Given the description of an element on the screen output the (x, y) to click on. 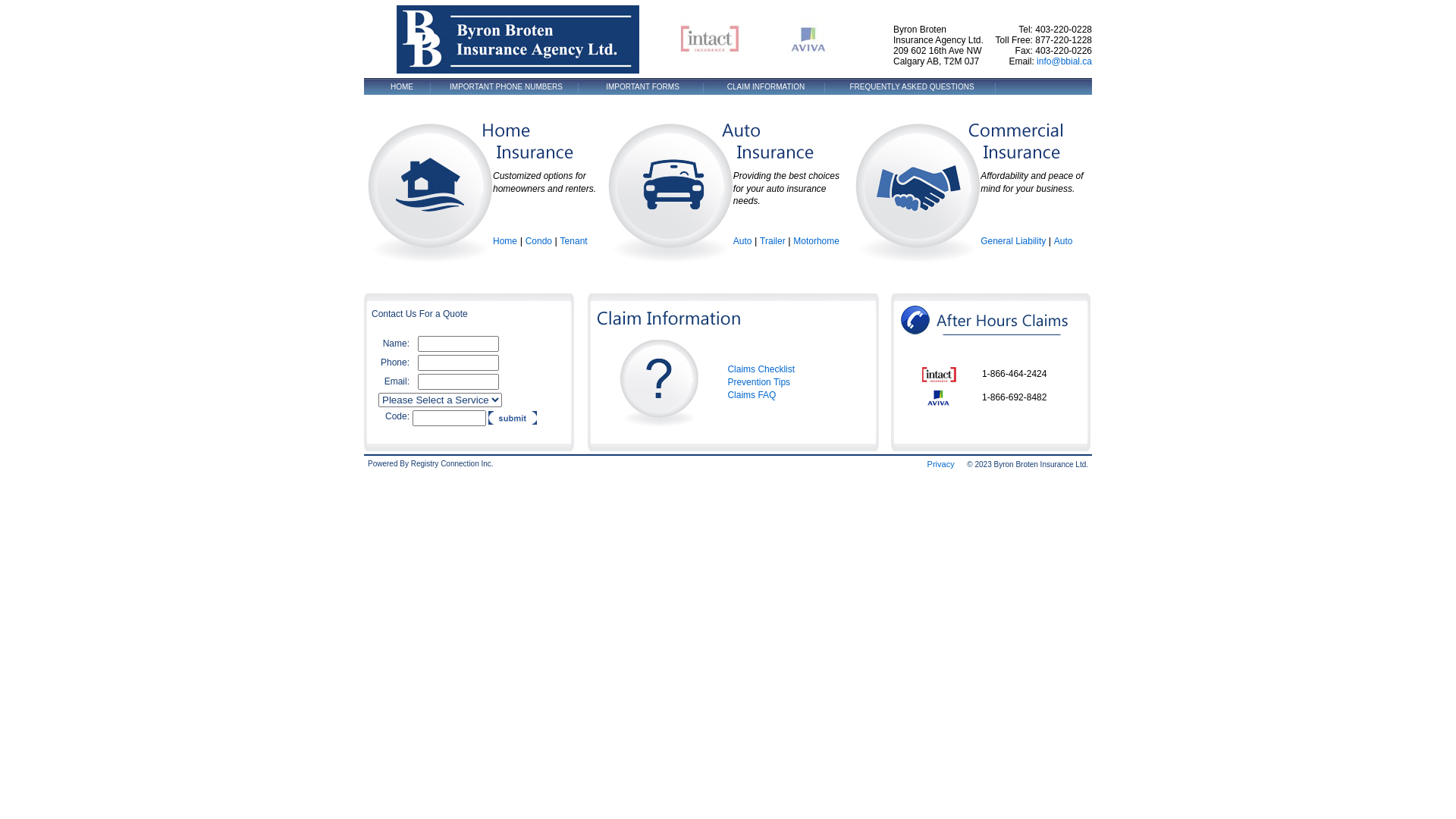
Auto Element type: text (742, 240)
Trailer Element type: text (772, 240)
HOME Element type: text (401, 86)
FREQUENTLY ASKED QUESTIONS Element type: text (911, 86)
Auto Element type: text (1063, 240)
Condo Element type: text (538, 240)
IMPORTANT FORMS Element type: text (642, 86)
IMPORTANT PHONE NUMBERS Element type: text (506, 86)
Prevention Tips Element type: text (758, 381)
Tenant Element type: text (573, 240)
Home Element type: text (504, 240)
Claims Checklist Element type: text (760, 369)
General Liability Element type: text (1012, 240)
Privacy Element type: text (940, 463)
CLAIM INFORMATION Element type: text (765, 86)
Claims FAQ Element type: text (751, 394)
Motorhome Element type: text (816, 240)
info@bbial.ca Element type: text (1064, 61)
